Given the description of an element on the screen output the (x, y) to click on. 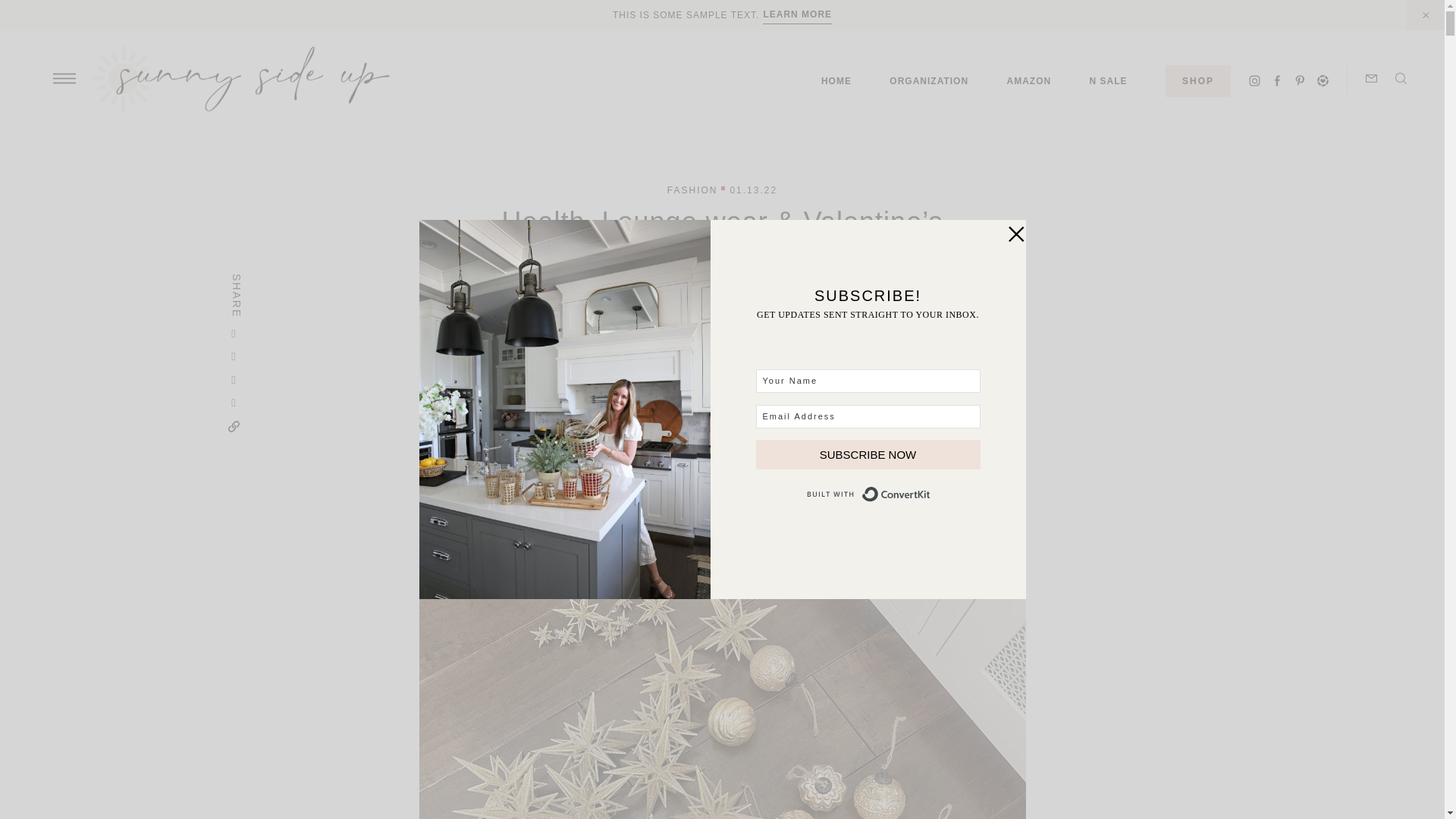
SHOP (1198, 81)
LEARN MORE (796, 14)
FASHION (691, 190)
ORGANIZATION (928, 80)
N SALE (1107, 80)
HOME (836, 80)
AMAZON (1029, 80)
